Given the description of an element on the screen output the (x, y) to click on. 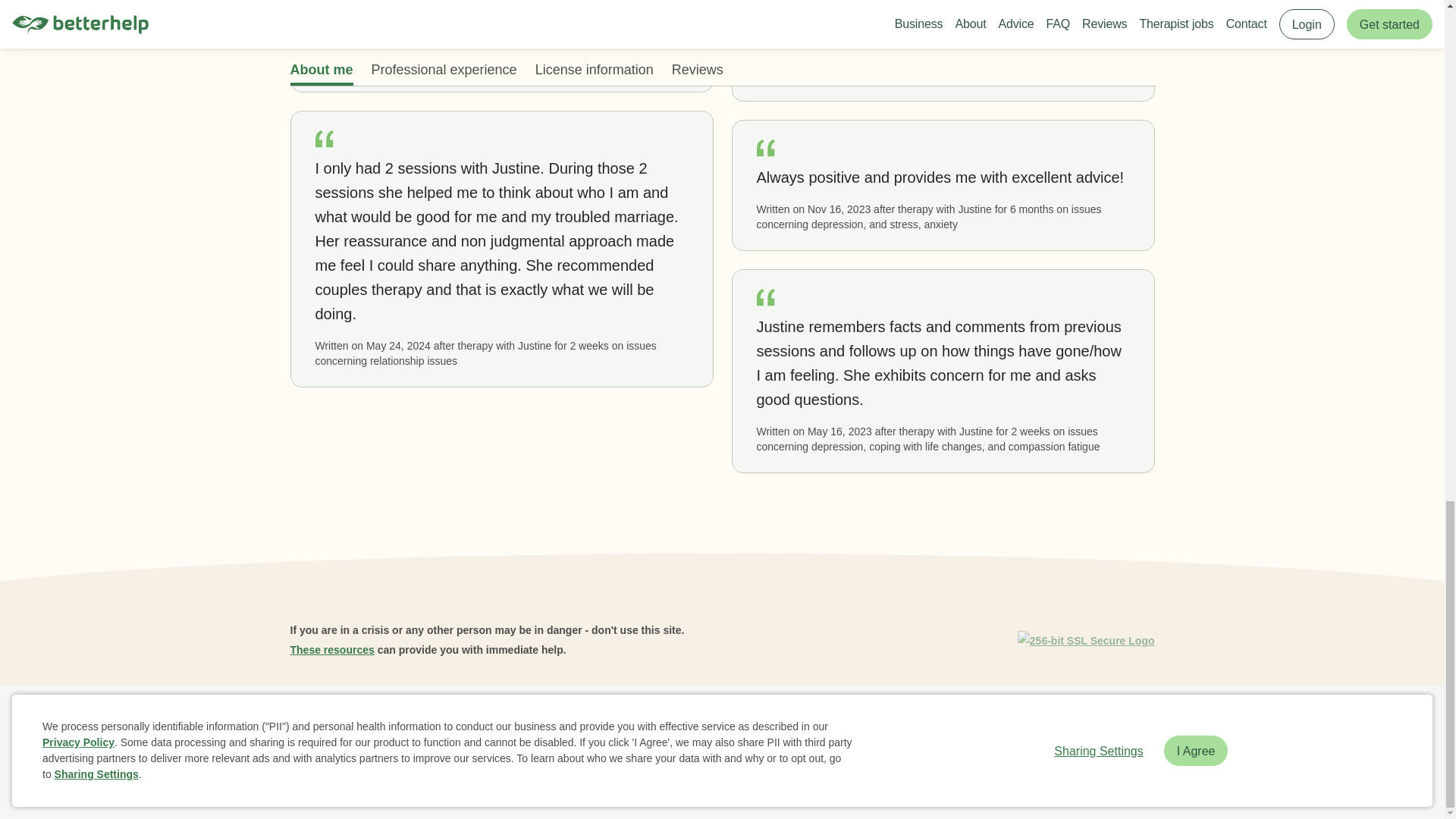
Reviews (510, 721)
About (419, 721)
Online Therapy (784, 721)
Contact (857, 721)
Find a Therapist (692, 721)
Advice (564, 721)
Business (365, 721)
Home (311, 721)
These resources (331, 649)
Careers (618, 721)
